Given the description of an element on the screen output the (x, y) to click on. 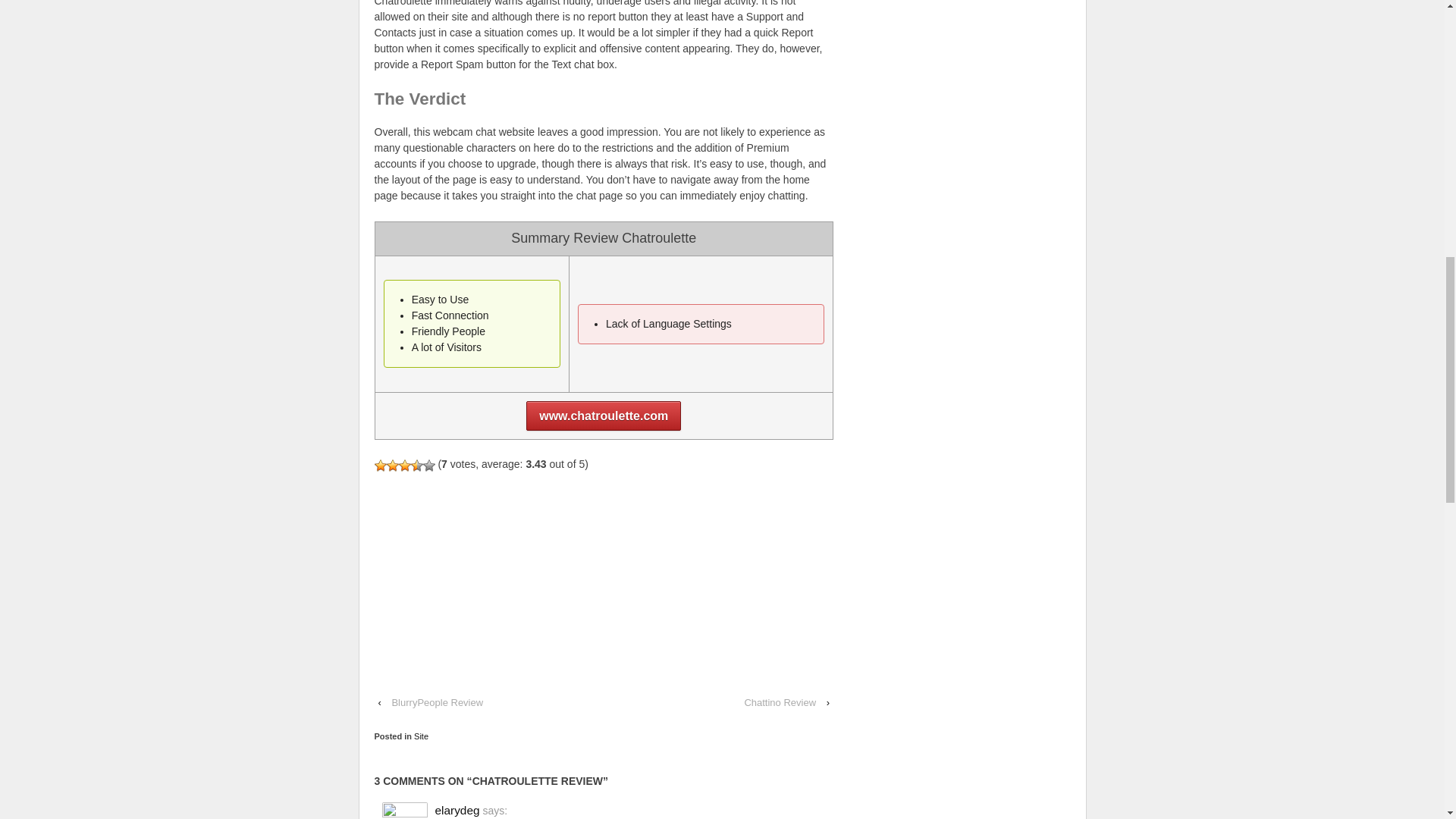
4 Stars (416, 465)
2 Stars (392, 465)
3 Stars (404, 465)
Site (420, 736)
5 Stars (429, 465)
BlurryPeople Review (437, 702)
1 Star (380, 465)
Chattino Review (780, 702)
www.chatroulette.com (603, 415)
